Given the description of an element on the screen output the (x, y) to click on. 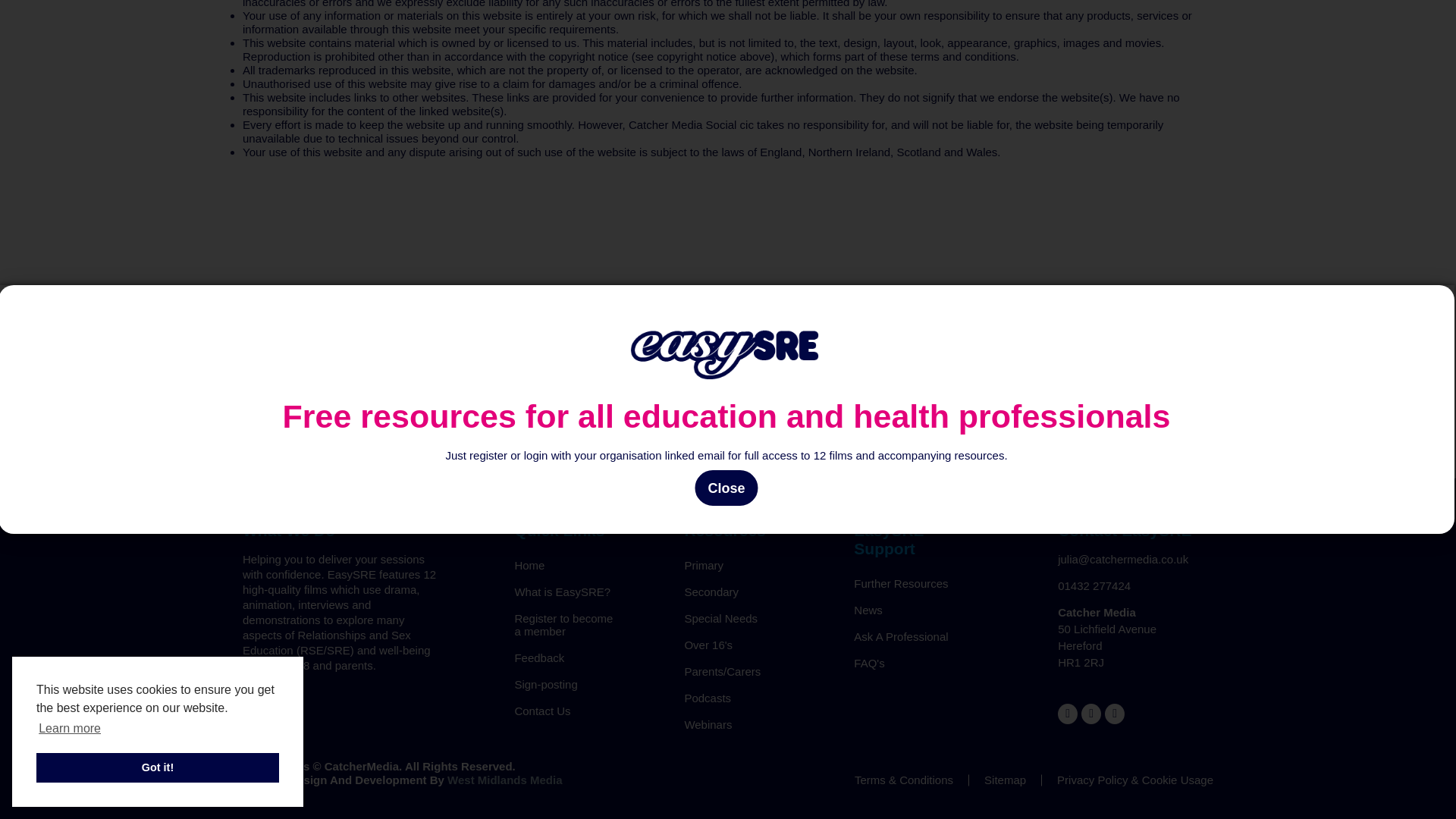
Learn more (69, 38)
Got it! (157, 77)
